Given the description of an element on the screen output the (x, y) to click on. 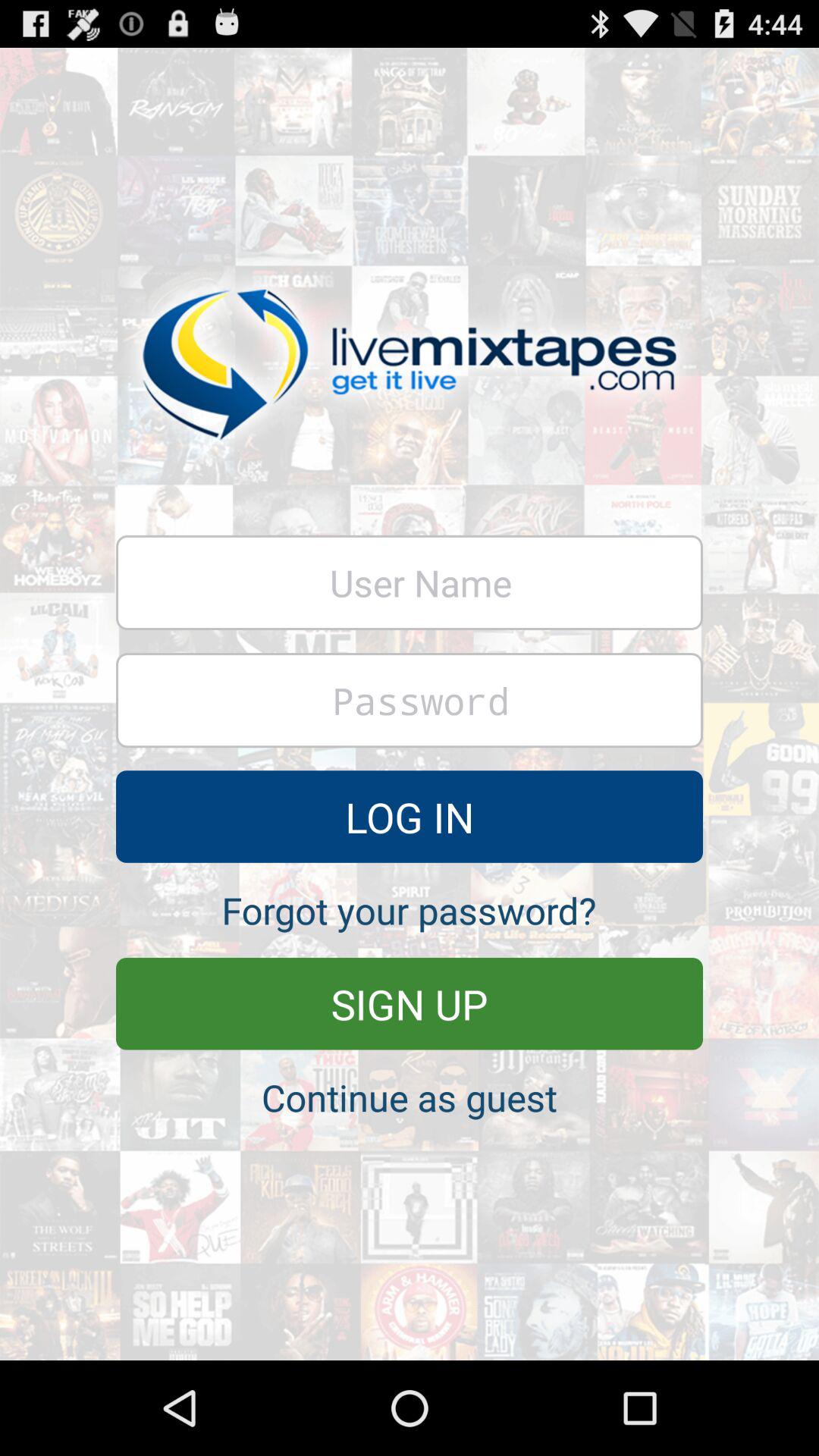
insert password (409, 699)
